Given the description of an element on the screen output the (x, y) to click on. 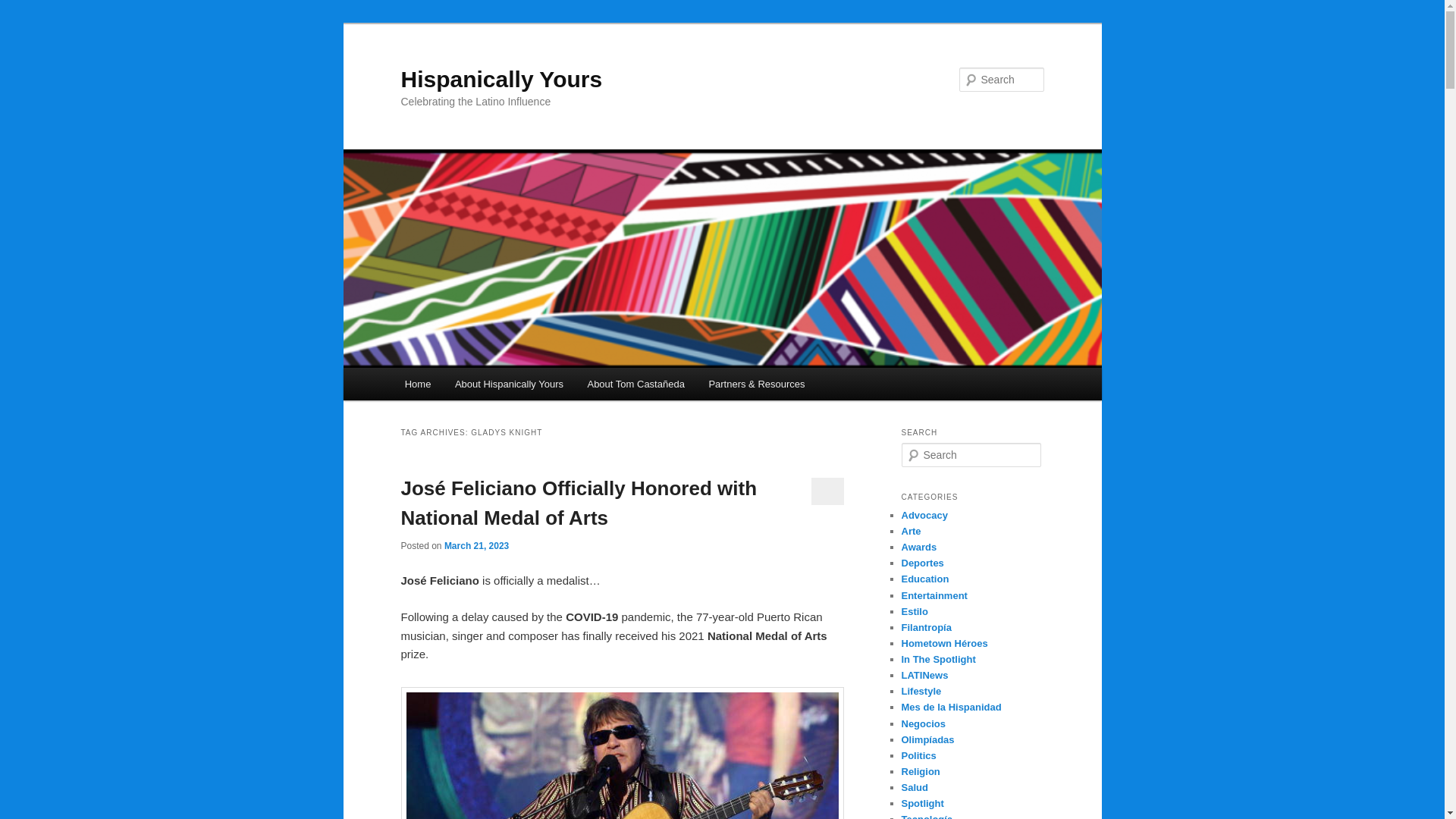
Home (417, 383)
4:00 pm (476, 545)
Hispanically Yours (501, 78)
Search (24, 8)
About Hispanically Yours (508, 383)
March 21, 2023 (476, 545)
